Given the description of an element on the screen output the (x, y) to click on. 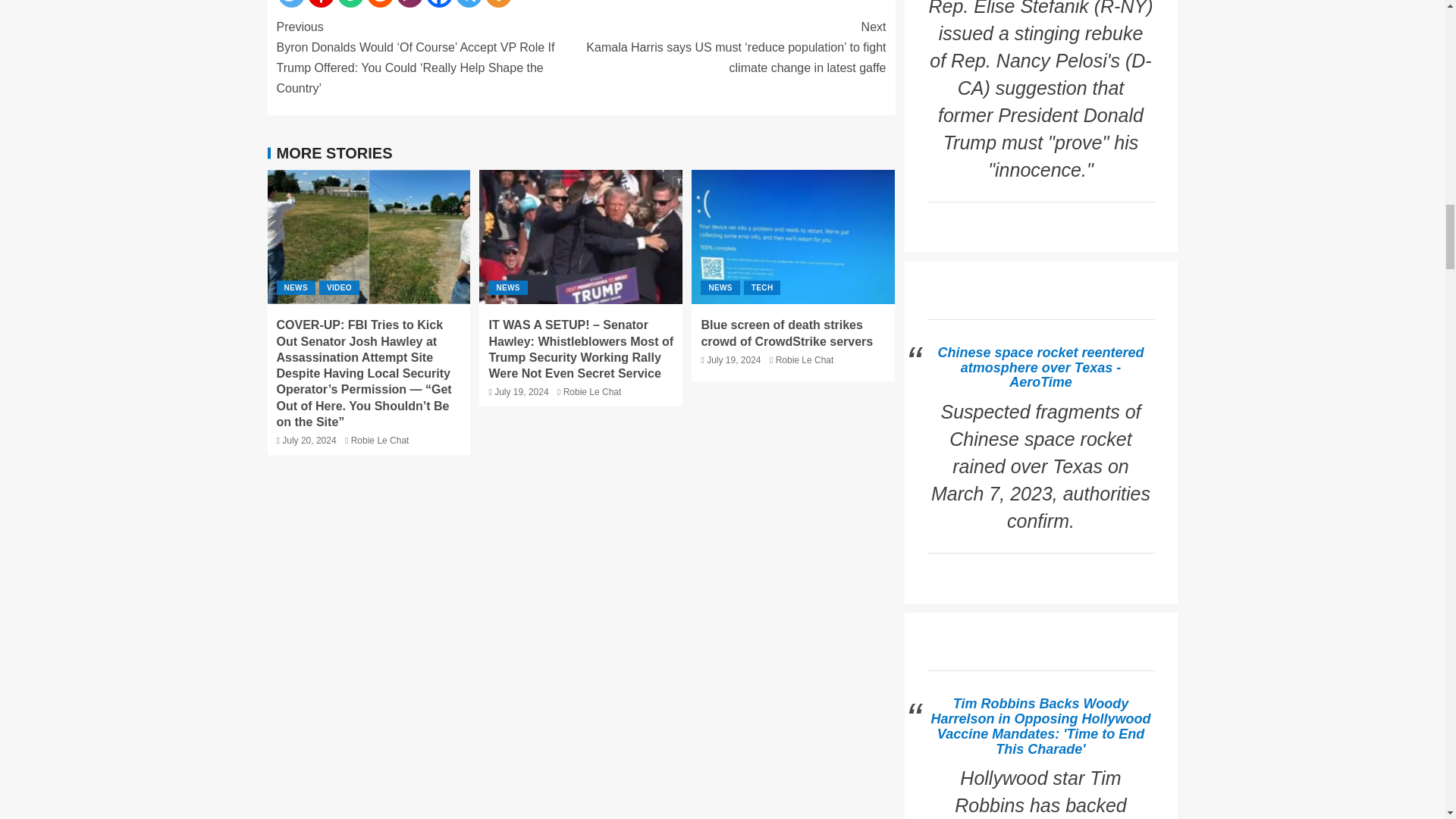
Telegram (467, 3)
Gettr (320, 3)
More (498, 3)
Reddit (379, 3)
Parler (409, 3)
Gab (349, 3)
Facebook (439, 3)
Twitter (291, 3)
